Given the description of an element on the screen output the (x, y) to click on. 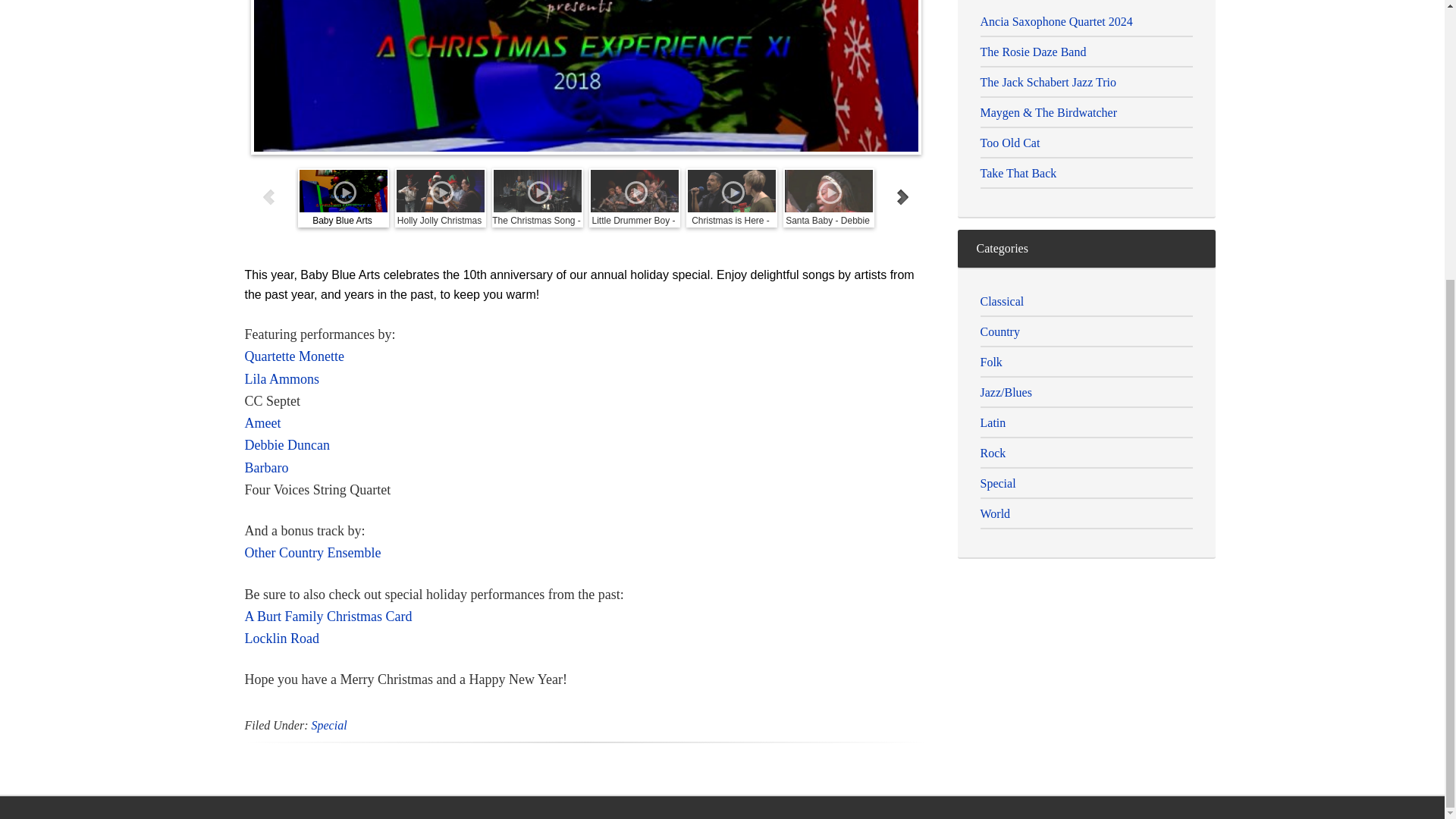
The Rosie Daze Band (1032, 51)
Quartette Monette (293, 355)
Too Old Cat (1009, 142)
Ancia Saxophone Quartet 2024 (1055, 21)
Classical (1001, 300)
Country (999, 330)
Barbaro (266, 467)
Folk (990, 360)
World (994, 512)
Debbie Duncan (286, 444)
Special (328, 725)
A Burt Family Christmas Card (328, 616)
Other Country Ensemble (312, 552)
Ameet (262, 422)
Locklin Road (281, 638)
